Given the description of an element on the screen output the (x, y) to click on. 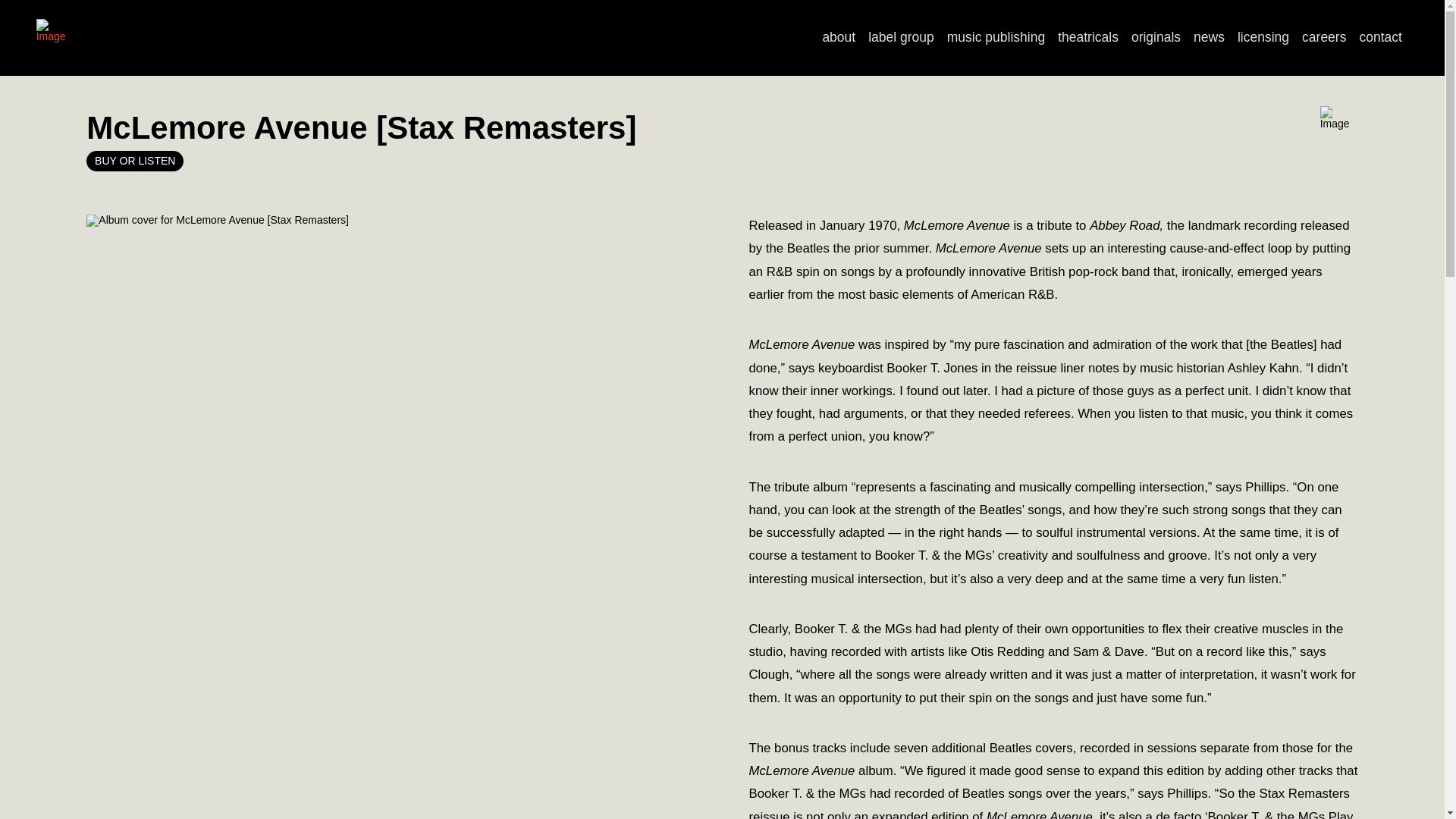
originals (1155, 38)
news (1209, 38)
careers (1323, 38)
about (838, 38)
music publishing (995, 38)
licensing (1262, 38)
theatricals (1088, 38)
label group (900, 38)
contact (1379, 38)
